Given the description of an element on the screen output the (x, y) to click on. 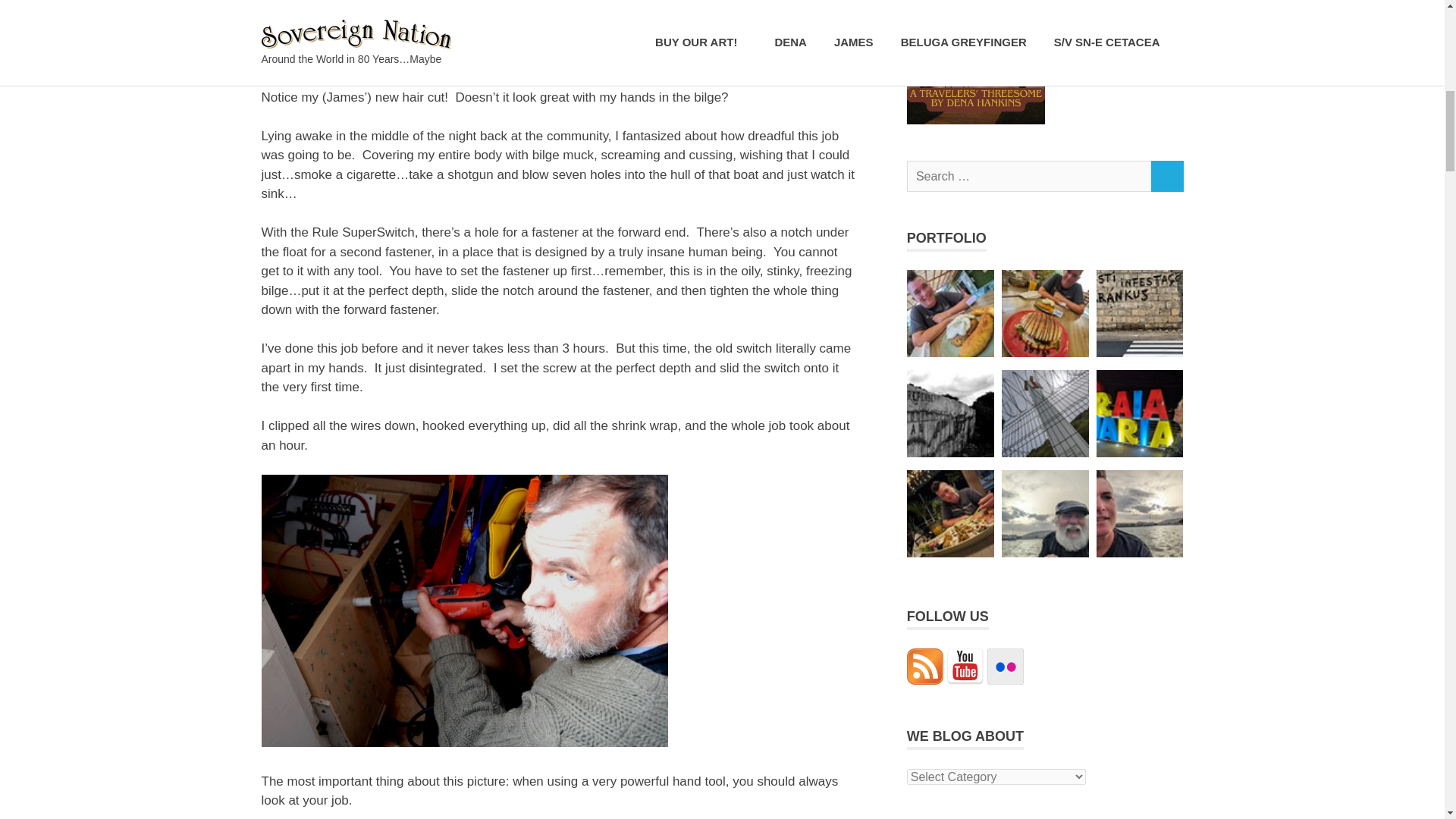
Look (463, 610)
ThePump (396, 31)
